Given the description of an element on the screen output the (x, y) to click on. 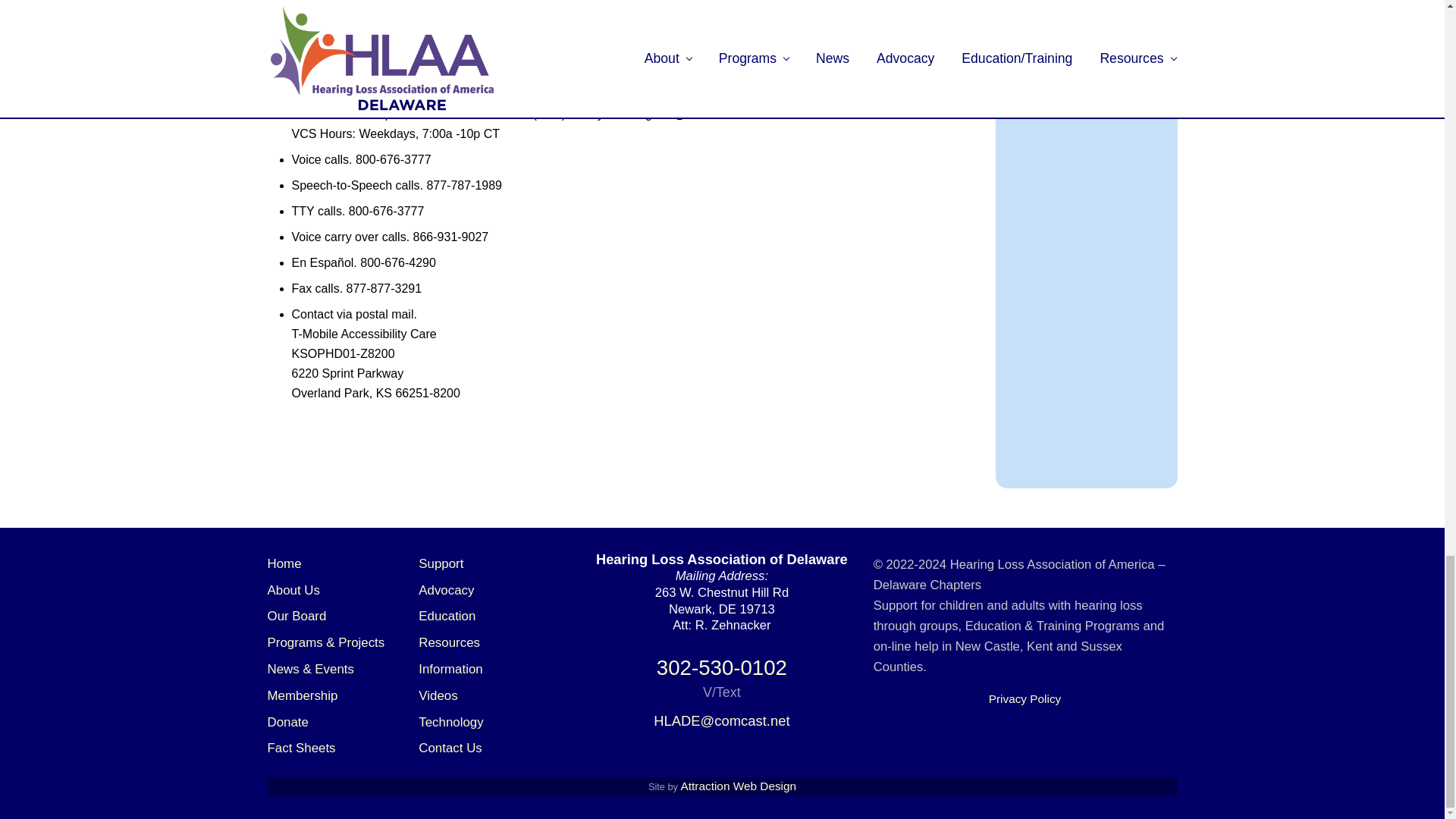
HLADE Fact Sheets (300, 748)
Support (441, 563)
Education (447, 616)
Videos (438, 695)
Advocacy (446, 590)
About Us (292, 590)
Hearing Loss Basics and Information (450, 668)
Hearing Loss Association Membership in Delaware (301, 695)
Technology (451, 721)
Donate Now (286, 721)
Links to Important Resources (449, 642)
